Given the description of an element on the screen output the (x, y) to click on. 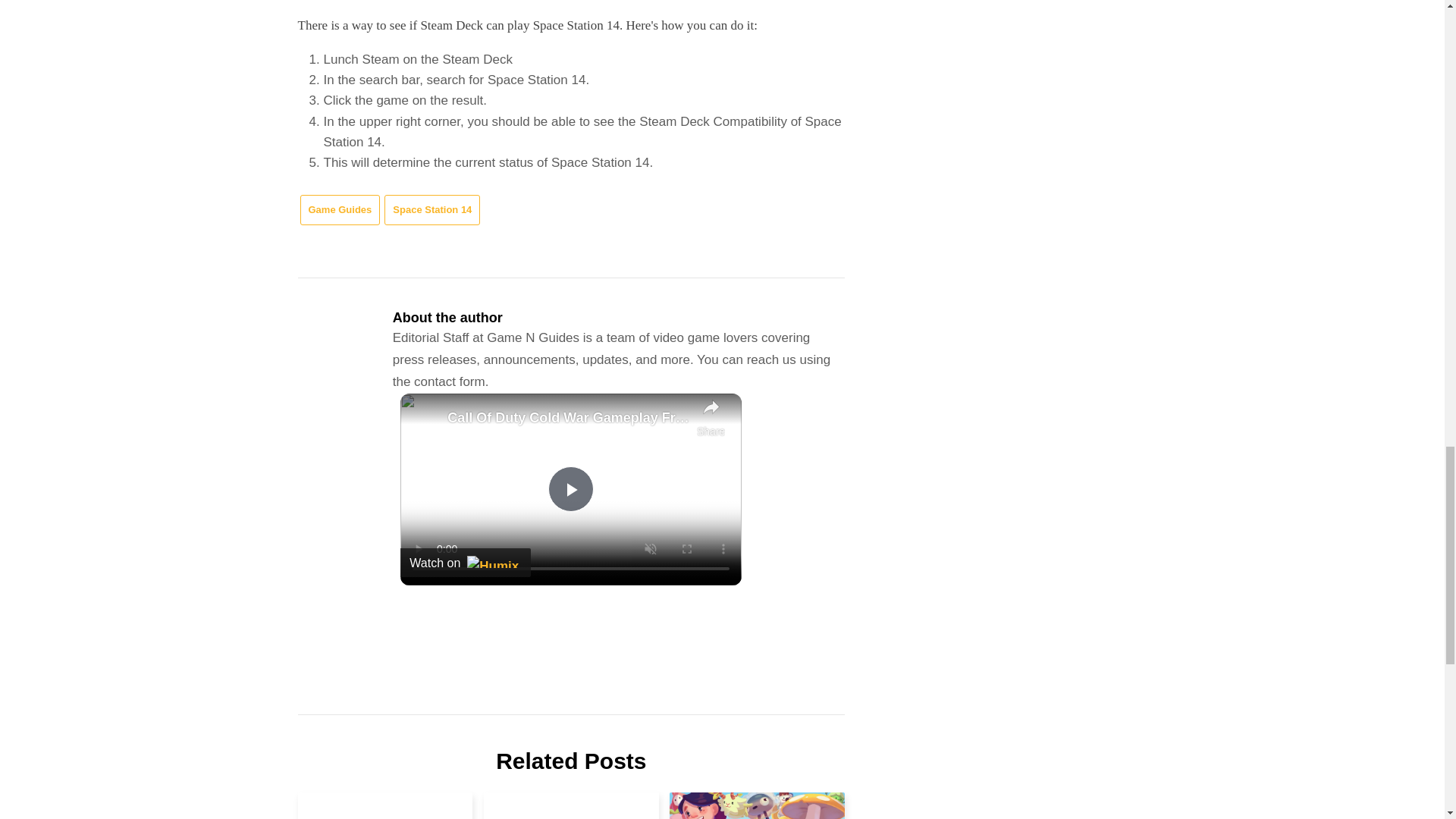
Play Video (571, 488)
Game Guides (339, 210)
Watch on (465, 562)
Play Video (571, 488)
Space Station 14 (432, 210)
Call Of Duty Cold War Gameplay Free To Use Gameplay (567, 418)
